Given the description of an element on the screen output the (x, y) to click on. 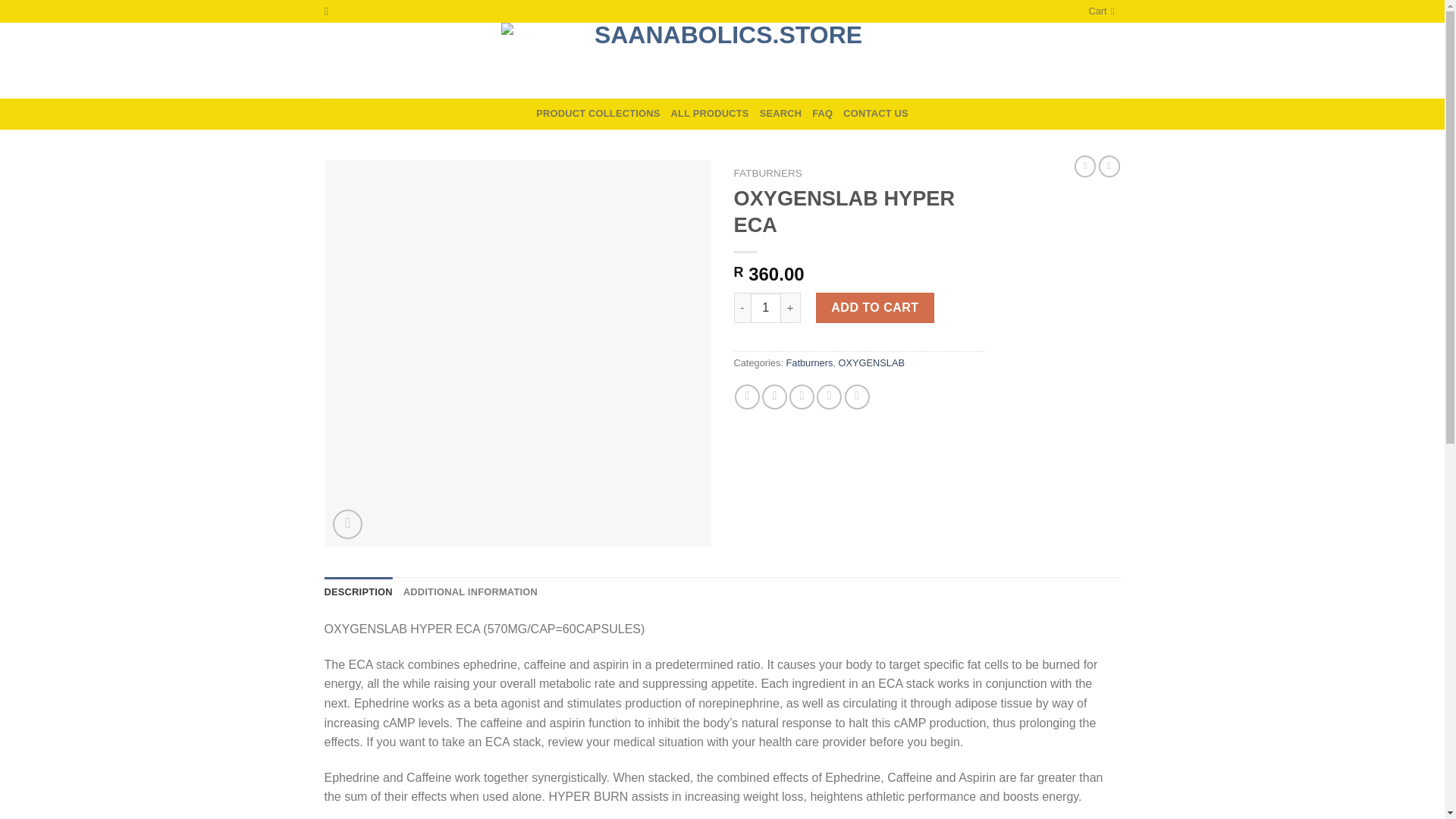
1 (765, 307)
Share on LinkedIn (856, 396)
PRODUCT COLLECTIONS (597, 113)
Cart (1103, 11)
Fatburners (809, 362)
Share on Twitter (774, 396)
FAQ (822, 113)
Cart (1103, 11)
ADD TO CART (874, 307)
DESCRIPTION (358, 592)
OXYGENSLAB (871, 362)
Pin on Pinterest (828, 396)
CONTACT US (875, 113)
SEARCH (781, 113)
